Given the description of an element on the screen output the (x, y) to click on. 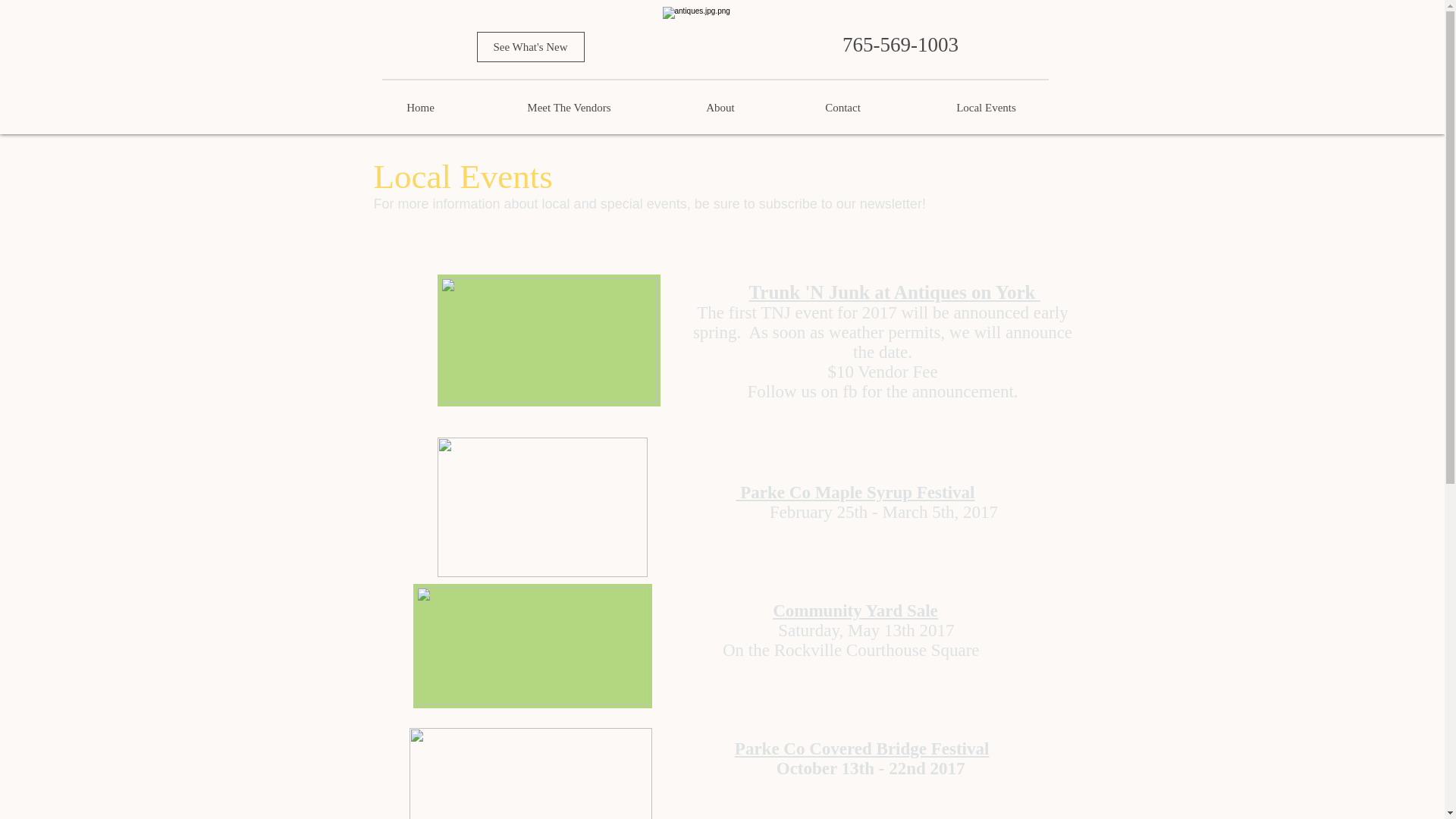
bridge logo.png (530, 773)
Home (419, 107)
See What's New (529, 46)
Meet The Vendors (568, 107)
About (719, 107)
Contact (842, 107)
Local Events (986, 107)
